Given the description of an element on the screen output the (x, y) to click on. 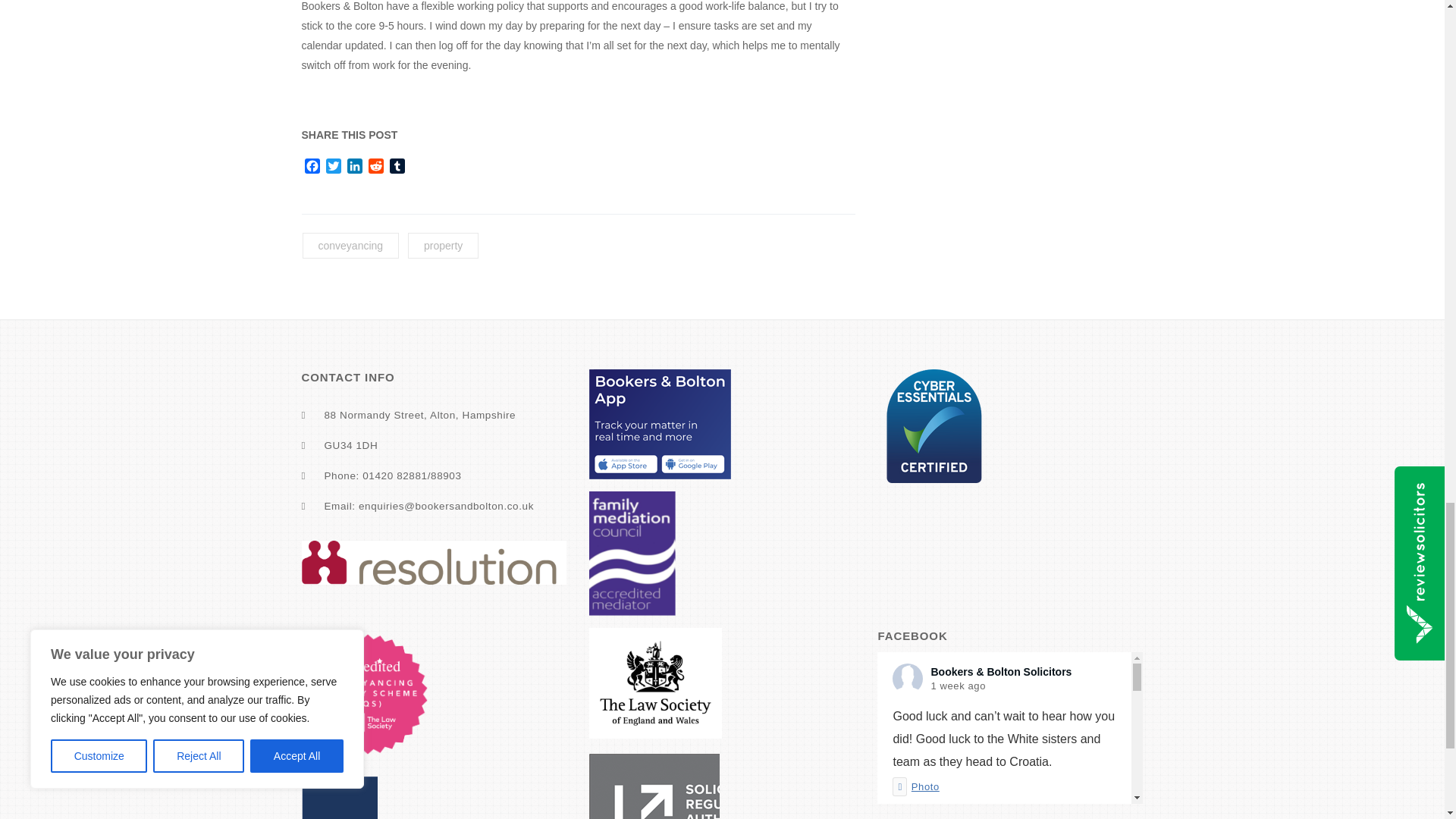
Facebook (312, 167)
Share (986, 810)
Reddit (376, 167)
View on Facebook (926, 810)
LinkedIn (354, 167)
Twitter (333, 167)
Tumblr (397, 167)
